Given the description of an element on the screen output the (x, y) to click on. 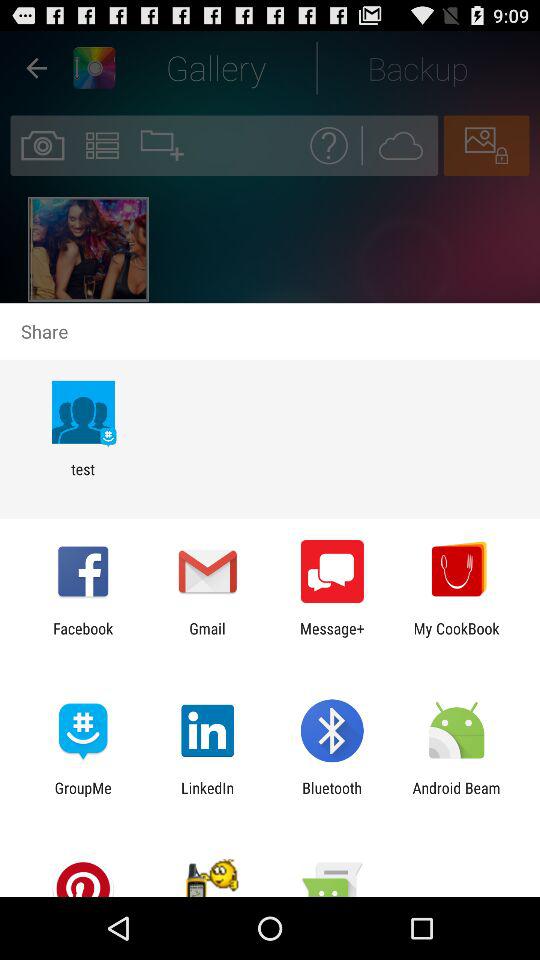
select item to the left of the bluetooth icon (207, 796)
